Given the description of an element on the screen output the (x, y) to click on. 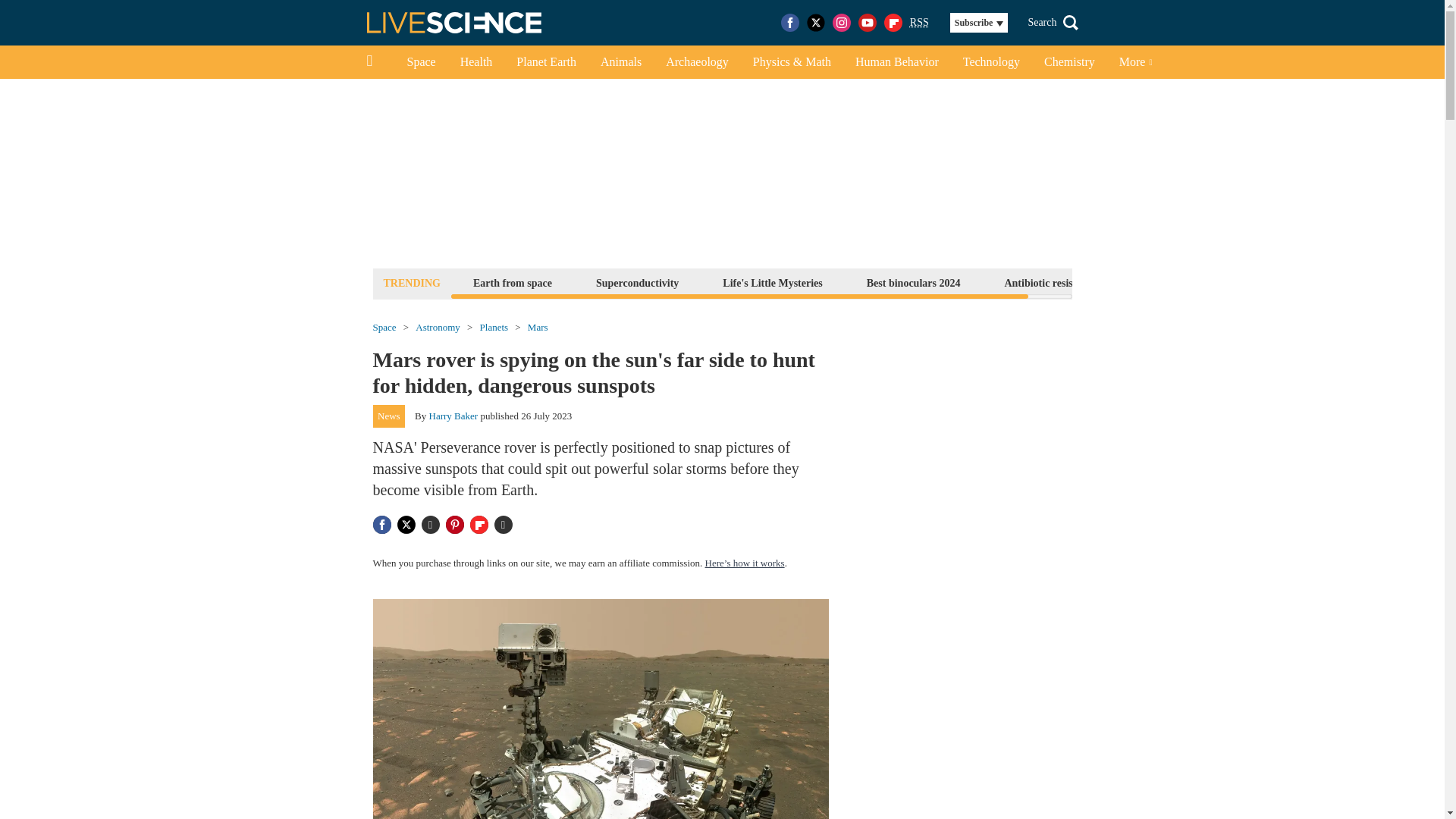
Astronomy (437, 327)
Chemistry (1069, 61)
Animals (620, 61)
Archaeology (697, 61)
Planet Earth (545, 61)
Space (420, 61)
Health (476, 61)
Life's Little Mysteries (772, 282)
Human Behavior (896, 61)
Technology (991, 61)
